Given the description of an element on the screen output the (x, y) to click on. 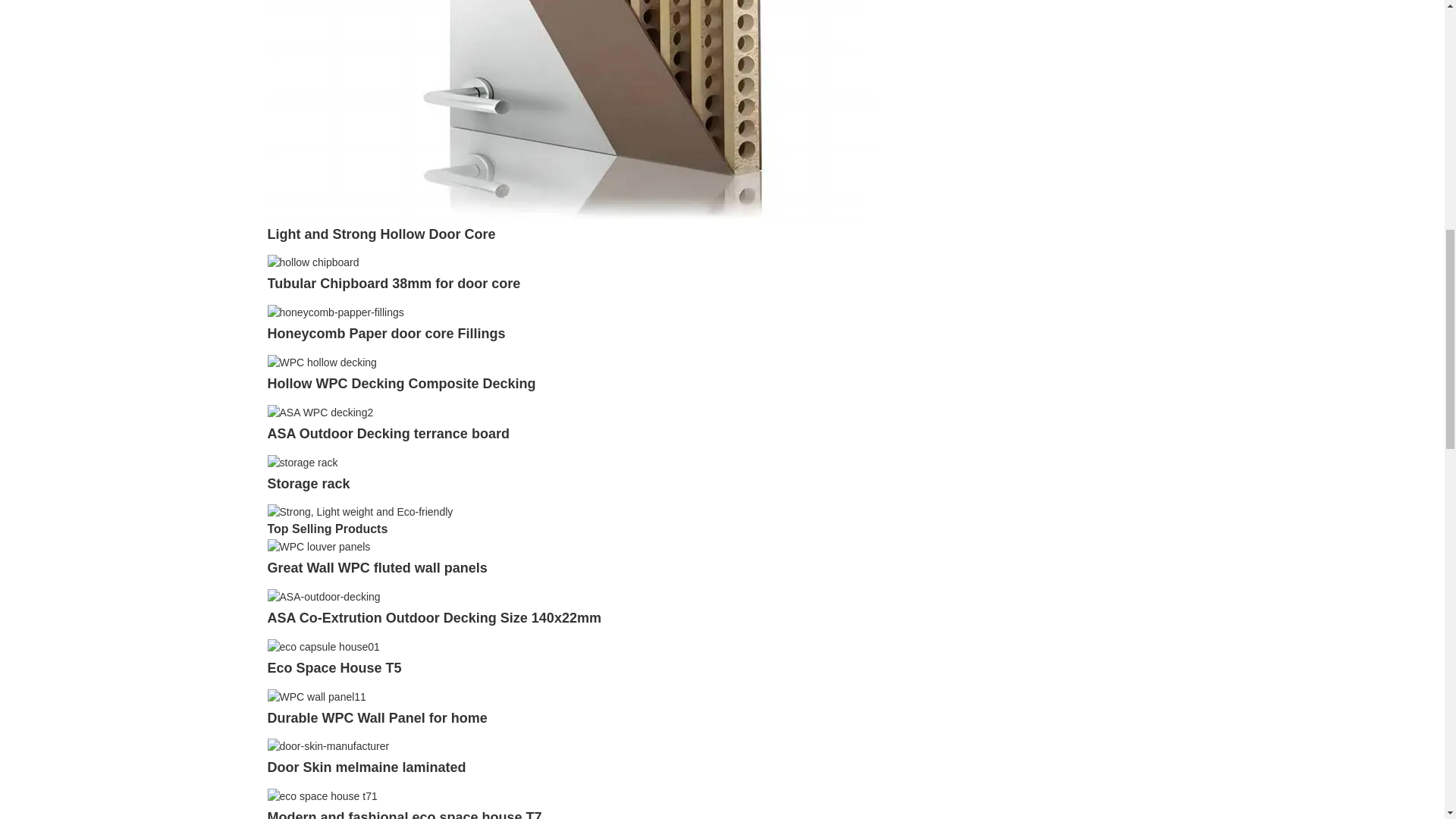
Honeycomb Paper door core Fillings  (385, 333)
Hollow WPC Decking Composite Decking  (402, 383)
Light and Strong Hollow Door Core (380, 233)
Honeycomb Paper door core Fillings  (334, 311)
Tubular Chipboard 38mm for door core (392, 283)
Tubular Chipboard 38mm for door core (392, 283)
ASA Outdoor Decking terrance board (387, 433)
ASA Outdoor Decking terrance board (387, 433)
ASA Outdoor Decking terrance board (319, 411)
Tubular Chipboard 38mm for door core (312, 262)
Honeycomb Paper door core Fillings (385, 333)
Light and Strong Hollow Door Core (380, 233)
